Given the description of an element on the screen output the (x, y) to click on. 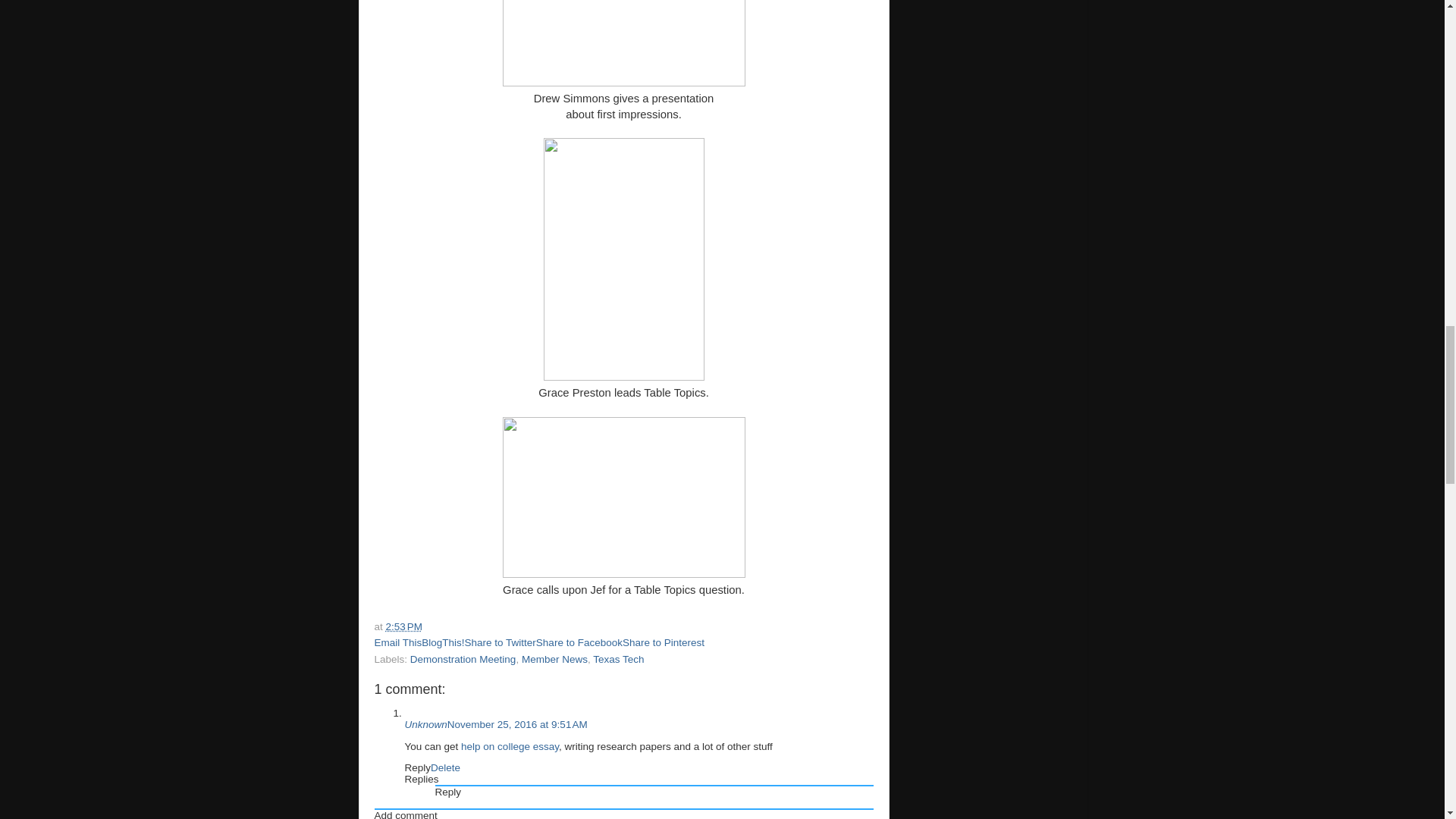
Add comment (406, 814)
Email This (398, 642)
Share to Twitter (499, 642)
Delete (445, 767)
help on college essay (510, 746)
Share to Pinterest (663, 642)
Member News (554, 659)
Share to Pinterest (663, 642)
Share to Facebook (579, 642)
Demonstration Meeting (463, 659)
Share to Facebook (579, 642)
Texas Tech (617, 659)
Reply (417, 767)
